Given the description of an element on the screen output the (x, y) to click on. 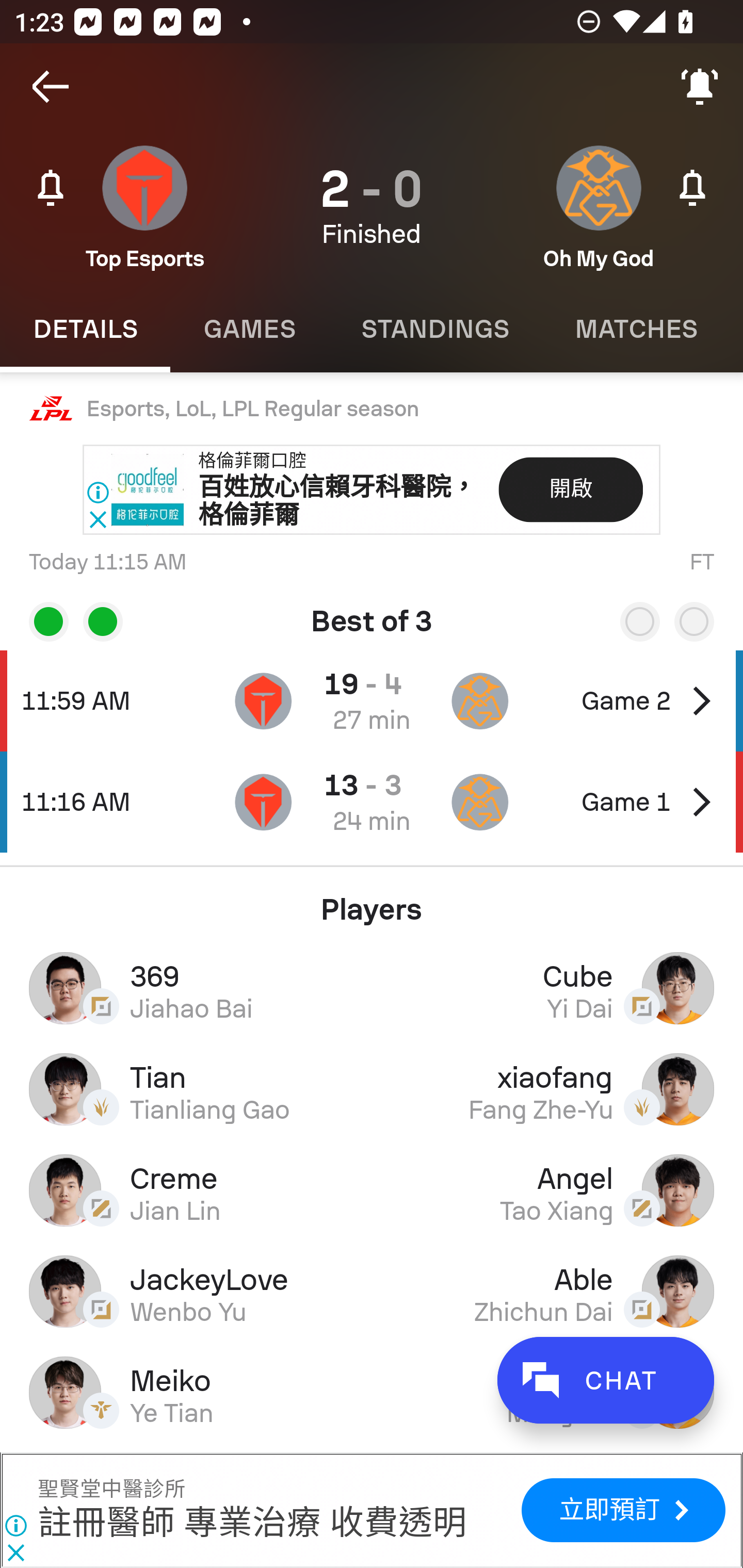
Navigate up (50, 86)
Games GAMES (249, 329)
Standings STANDINGS (434, 329)
Matches MATCHES (635, 329)
Esports, LoL, LPL Regular season (371, 409)
Best of 3 (371, 614)
11:59 AM 19 - 4 27 min Game 2 (371, 700)
11:16 AM 13 - 3 24 min Game 1 (371, 801)
Players (371, 902)
369 Cube Jiahao Bai Yi Dai (371, 987)
Tian xiaofang Tianliang Gao Fang Zhe-Yu (371, 1088)
Creme Angel Jian Lin Tao Xiang (371, 1189)
JackeyLove Able Wenbo Yu Zhichun Dai (371, 1291)
CHAT (605, 1380)
聖賢堂中醫診所 (111, 1489)
立即預訂 (623, 1510)
註冊醫師 專業治療 收費透明 (252, 1523)
